Given the description of an element on the screen output the (x, y) to click on. 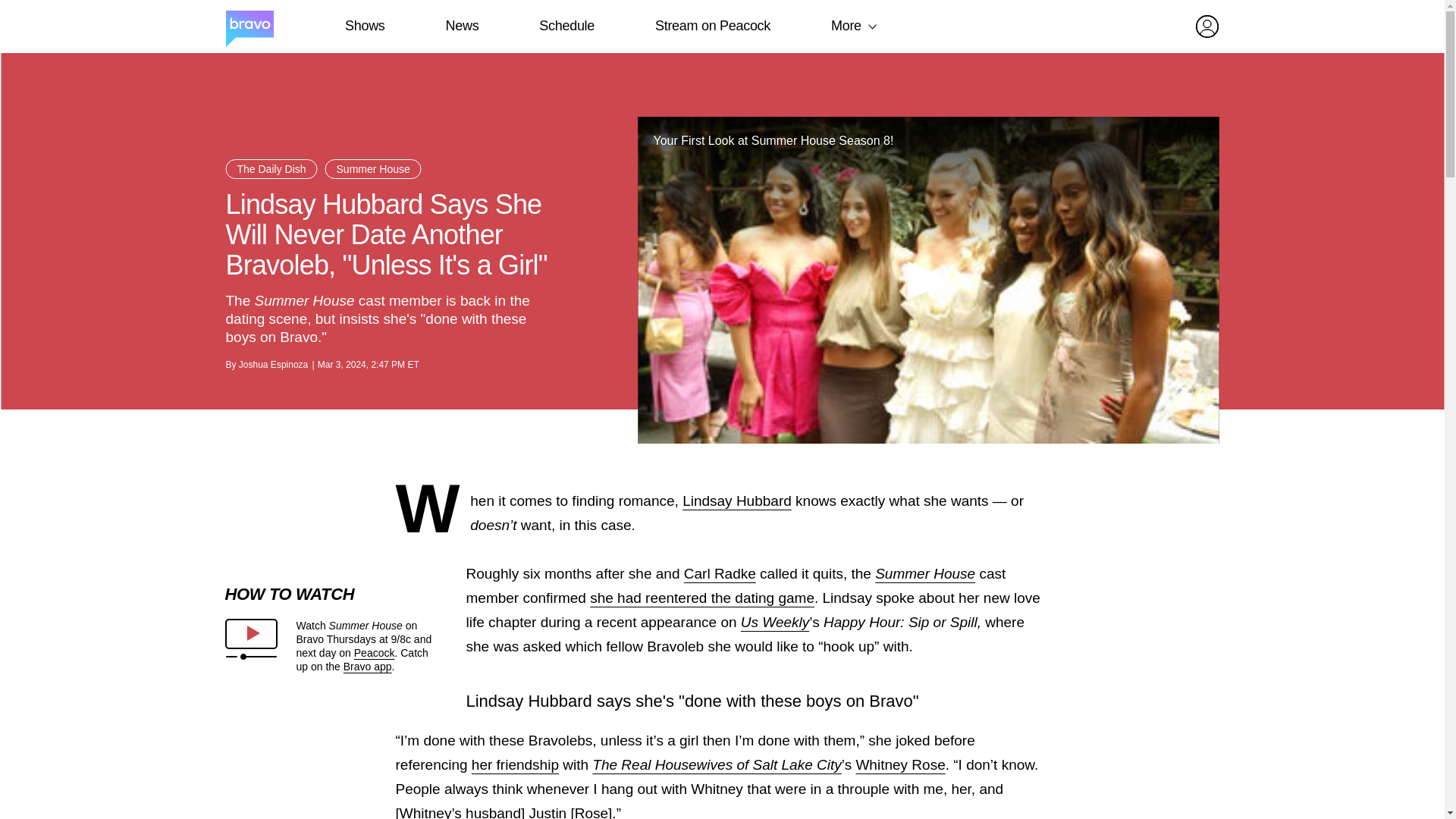
Bravo app (367, 666)
Joshua Espinoza (272, 364)
News (462, 26)
Peacock (373, 653)
her friendship (515, 764)
Schedule (566, 26)
Us Weekly (775, 621)
The Real Housewives of Salt Lake City (716, 764)
Summer House (373, 168)
Carl Radke (719, 573)
Whitney Rose (900, 764)
More (846, 26)
she had reentered the dating game (701, 597)
The Daily Dish (271, 168)
Stream on Peacock (712, 26)
